Given the description of an element on the screen output the (x, y) to click on. 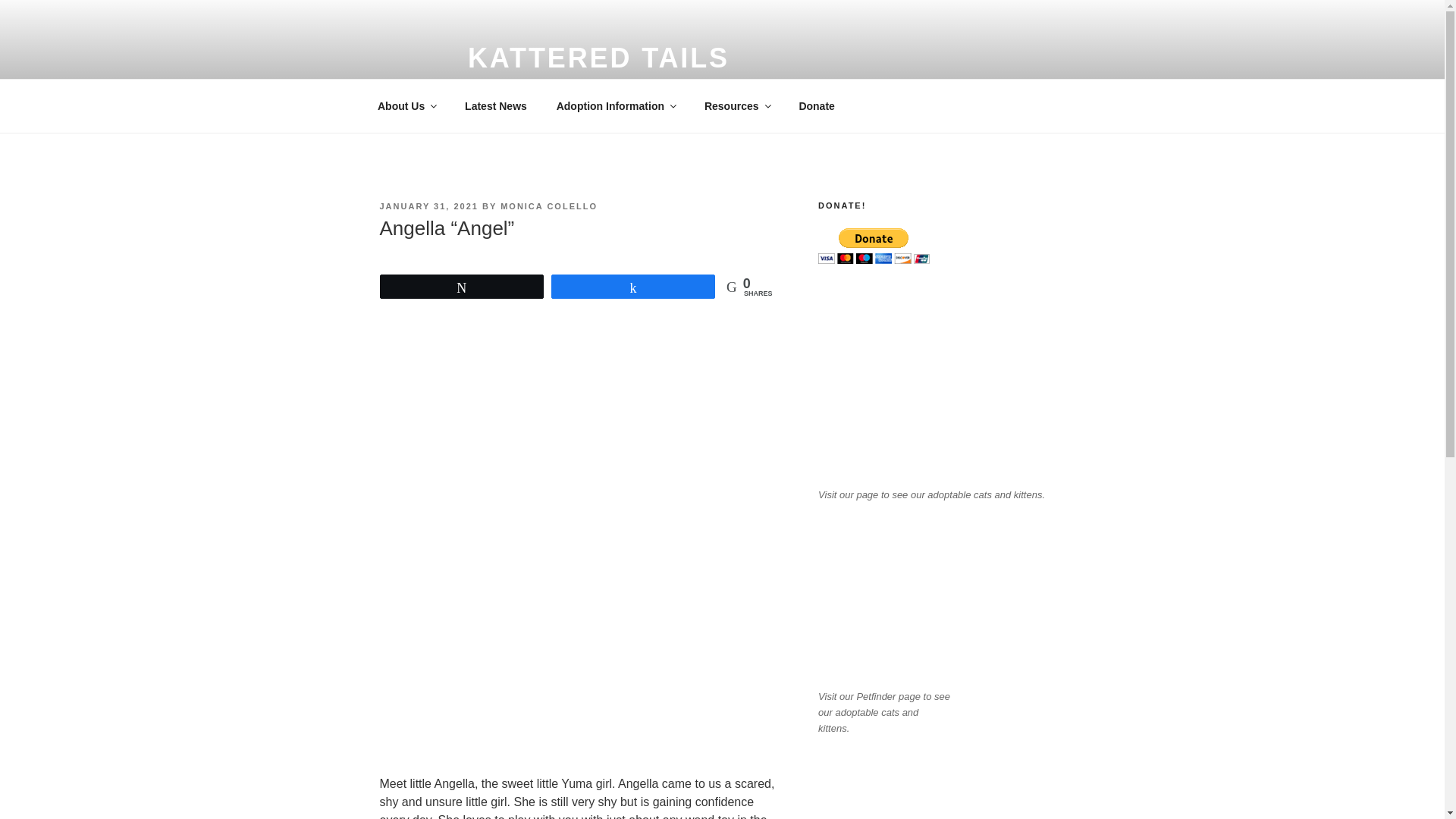
Donate (816, 106)
PayPal - The safer, easier way to pay online! (874, 245)
About Us (406, 106)
Resources (736, 106)
KATTERED TAILS (598, 57)
Adoption Information (615, 106)
Latest News (495, 106)
MONICA COLELLO (548, 205)
JANUARY 31, 2021 (427, 205)
